Given the description of an element on the screen output the (x, y) to click on. 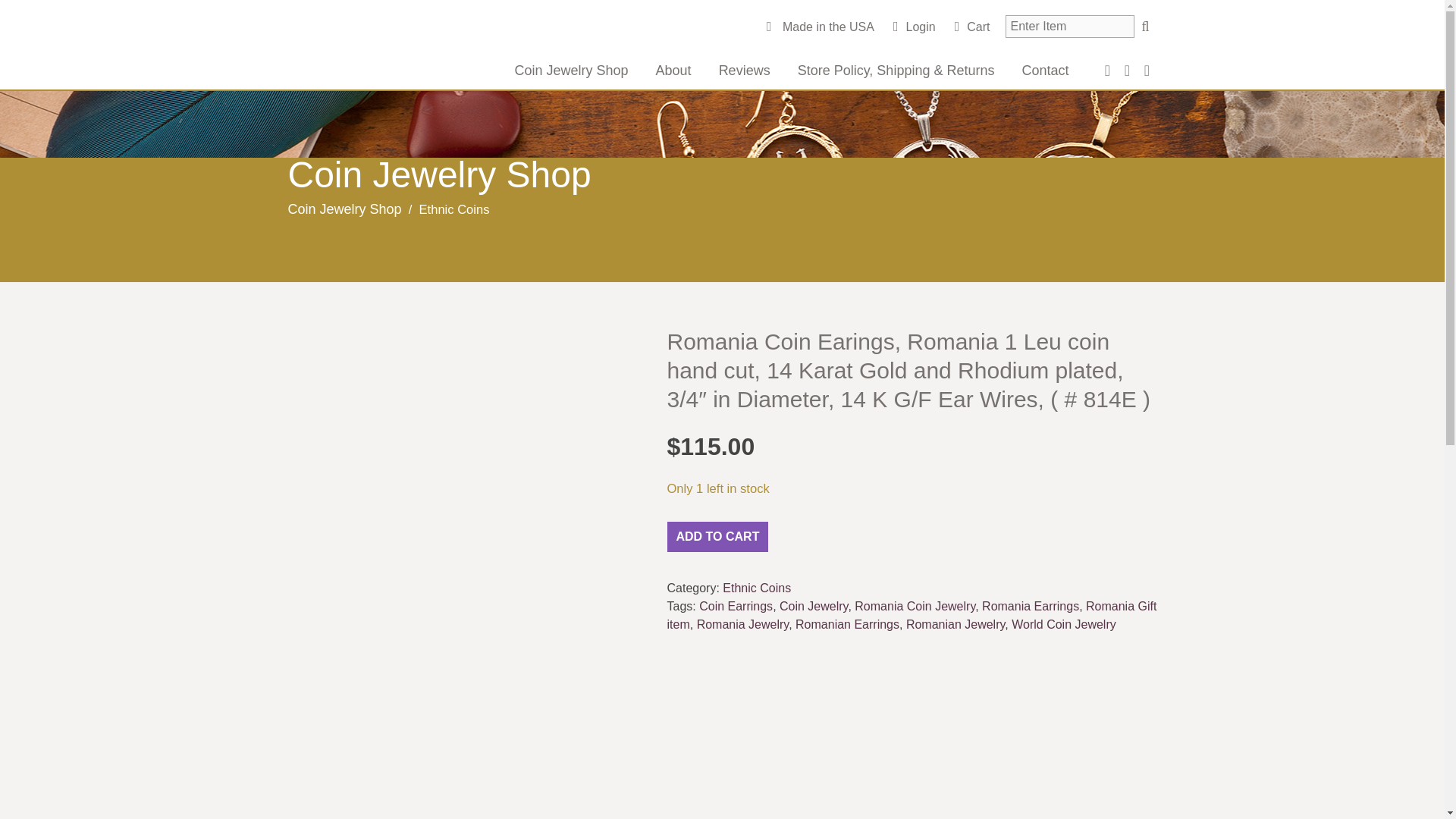
Ethnic Coins (756, 587)
Search (1145, 26)
Romanian Jewelry (954, 624)
Coin Jewelry Shop (571, 70)
Contact (1044, 70)
The Difference (398, 49)
Romania Gift item (911, 614)
Romania Coin Jewelry (914, 605)
Romanian Earrings (846, 624)
Coin Jewelry (812, 605)
Cart (972, 26)
Romania Jewelry (743, 624)
Login (914, 26)
Coin Earrings (735, 605)
Reviews (744, 70)
